Given the description of an element on the screen output the (x, y) to click on. 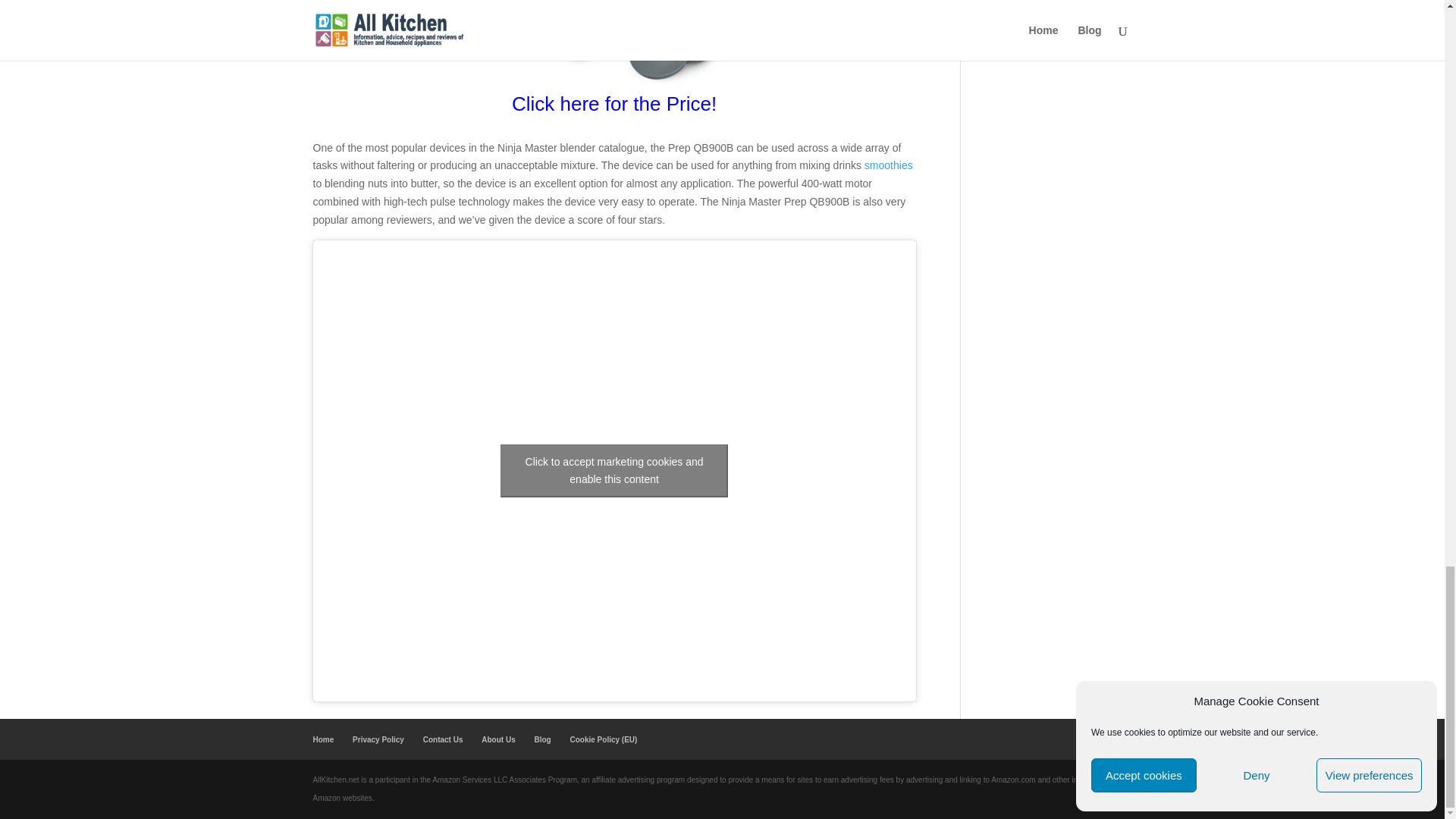
smoothies (888, 164)
Click to accept marketing cookies and enable this content (614, 469)
Click here for the Price! (614, 107)
